Given the description of an element on the screen output the (x, y) to click on. 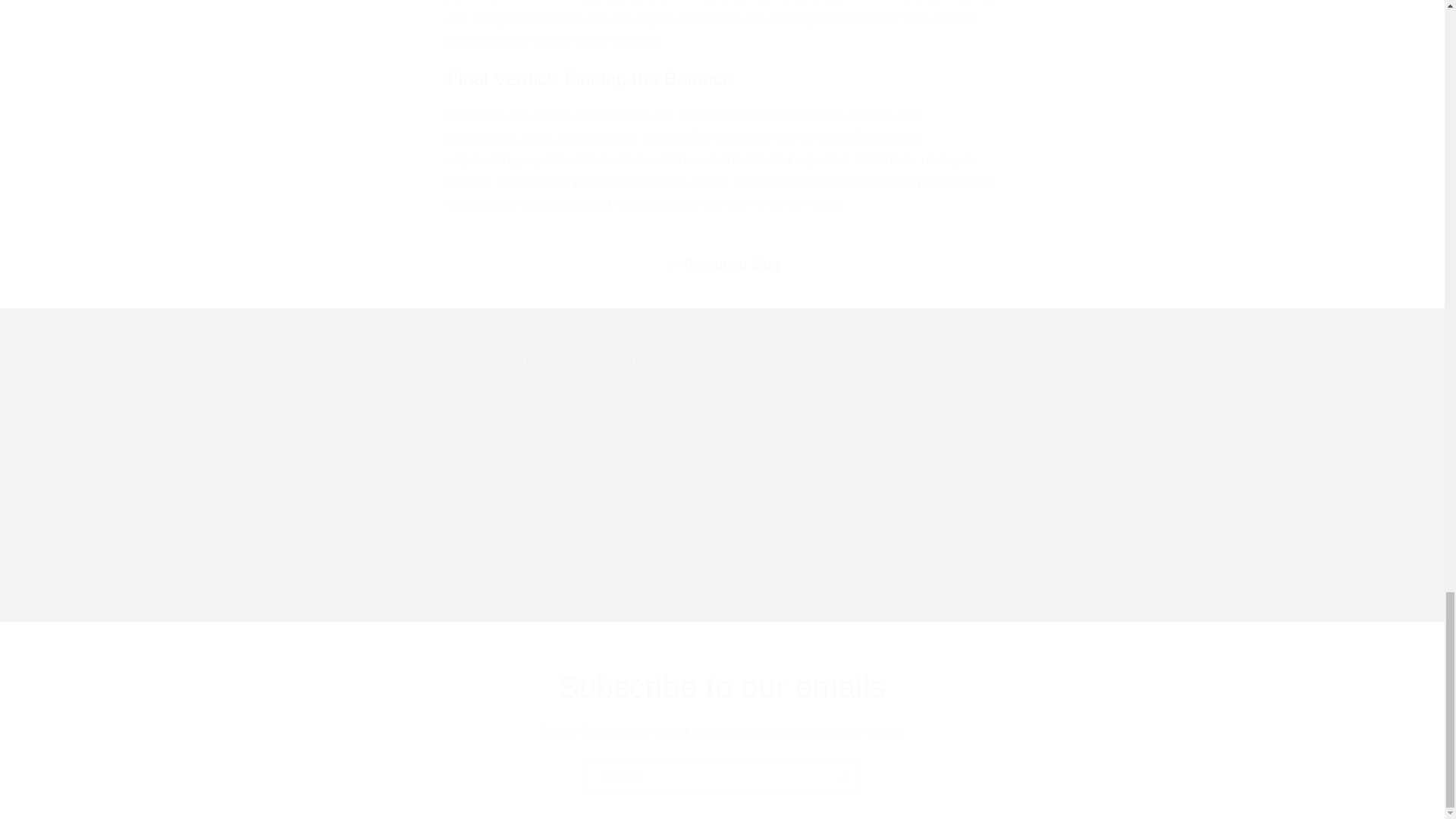
Publier le commentaire (536, 591)
E-mail (722, 776)
Subscribe to our emails (721, 686)
